Given the description of an element on the screen output the (x, y) to click on. 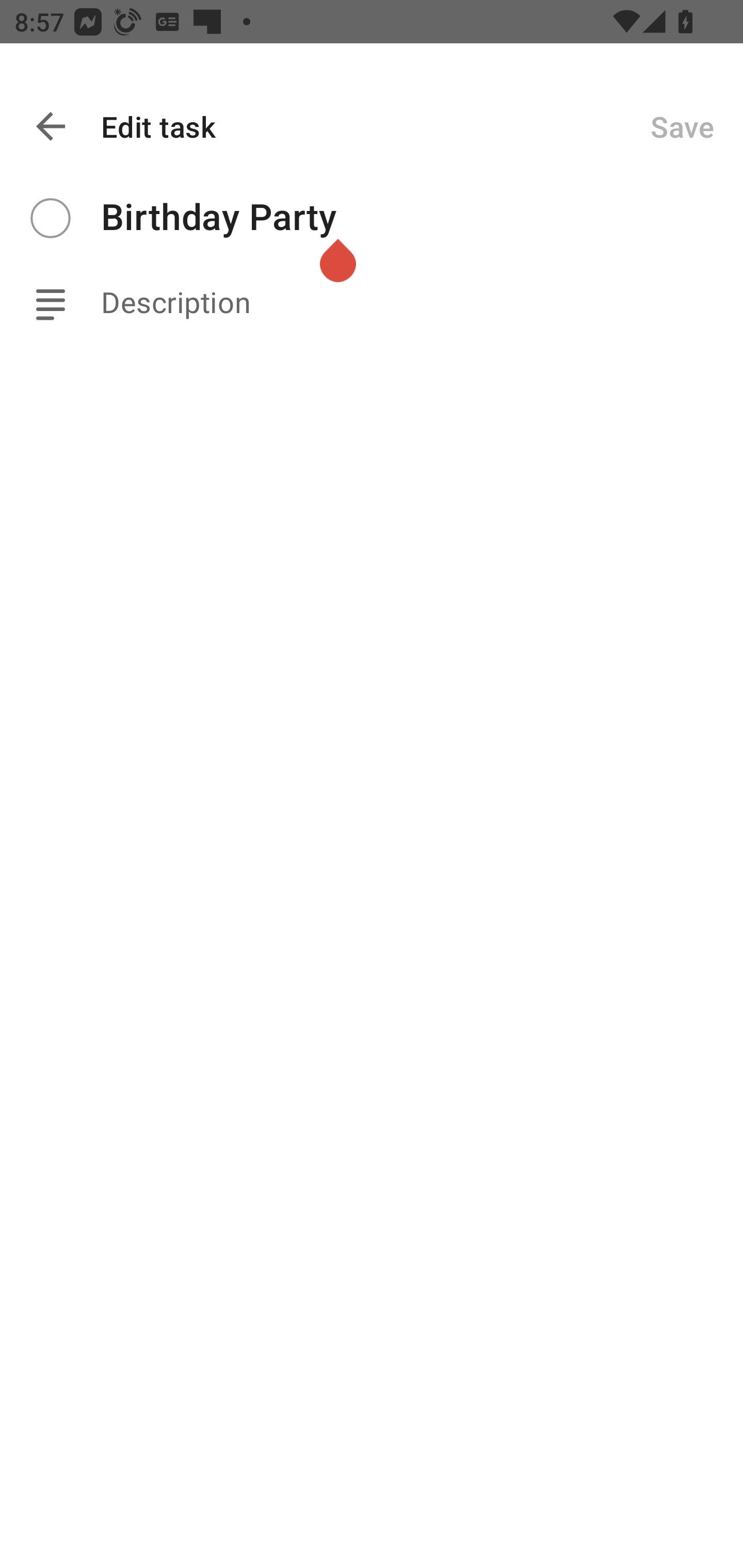
Save (681, 126)
Birthday Party (422, 217)
Description (422, 303)
